Given the description of an element on the screen output the (x, y) to click on. 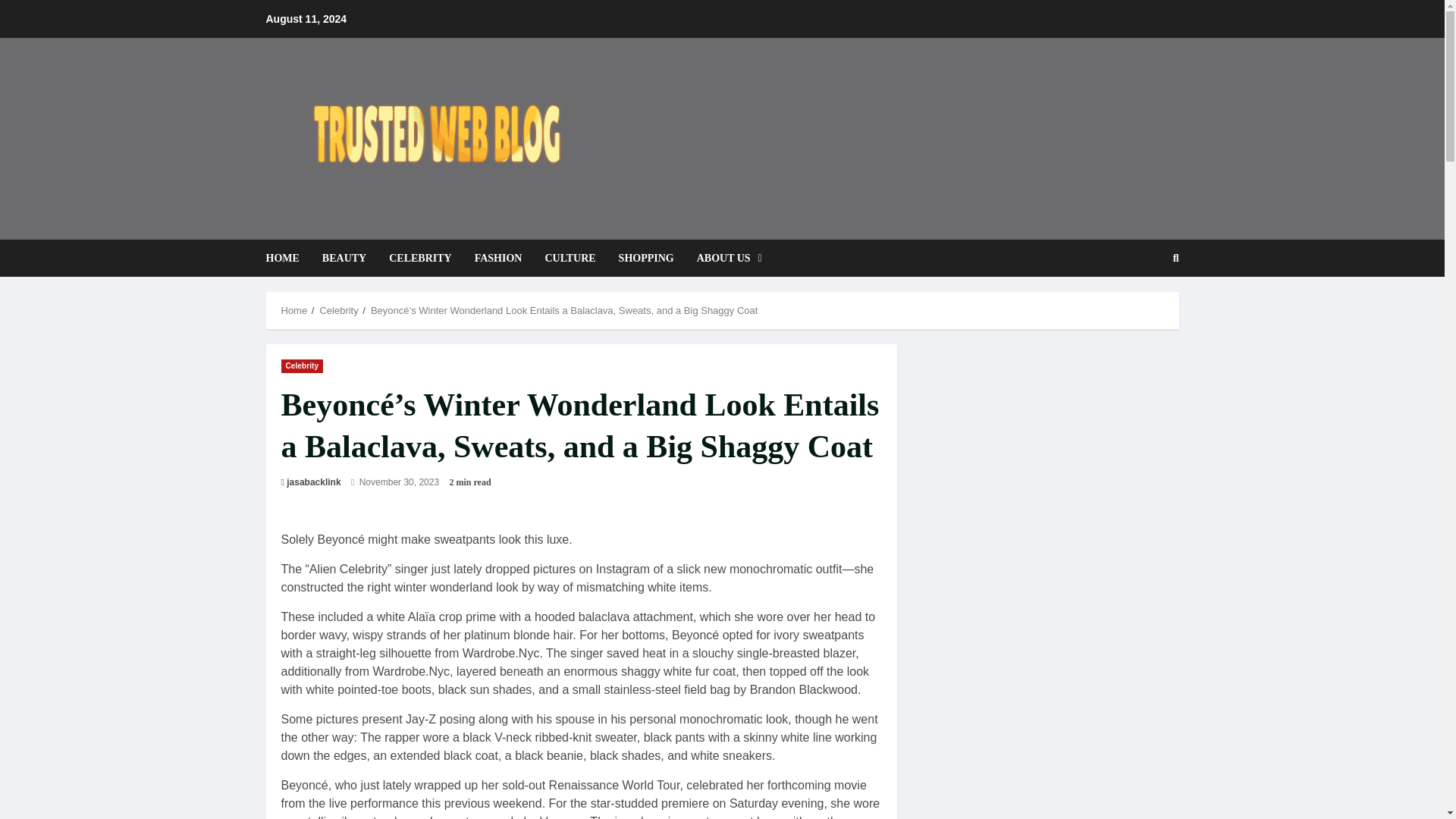
CULTURE (569, 257)
SHOPPING (646, 257)
Home (294, 310)
HOME (287, 257)
jasabacklink (313, 481)
Celebrity (302, 366)
BEAUTY (344, 257)
Celebrity (338, 310)
Search (1139, 309)
FASHION (498, 257)
